Given the description of an element on the screen output the (x, y) to click on. 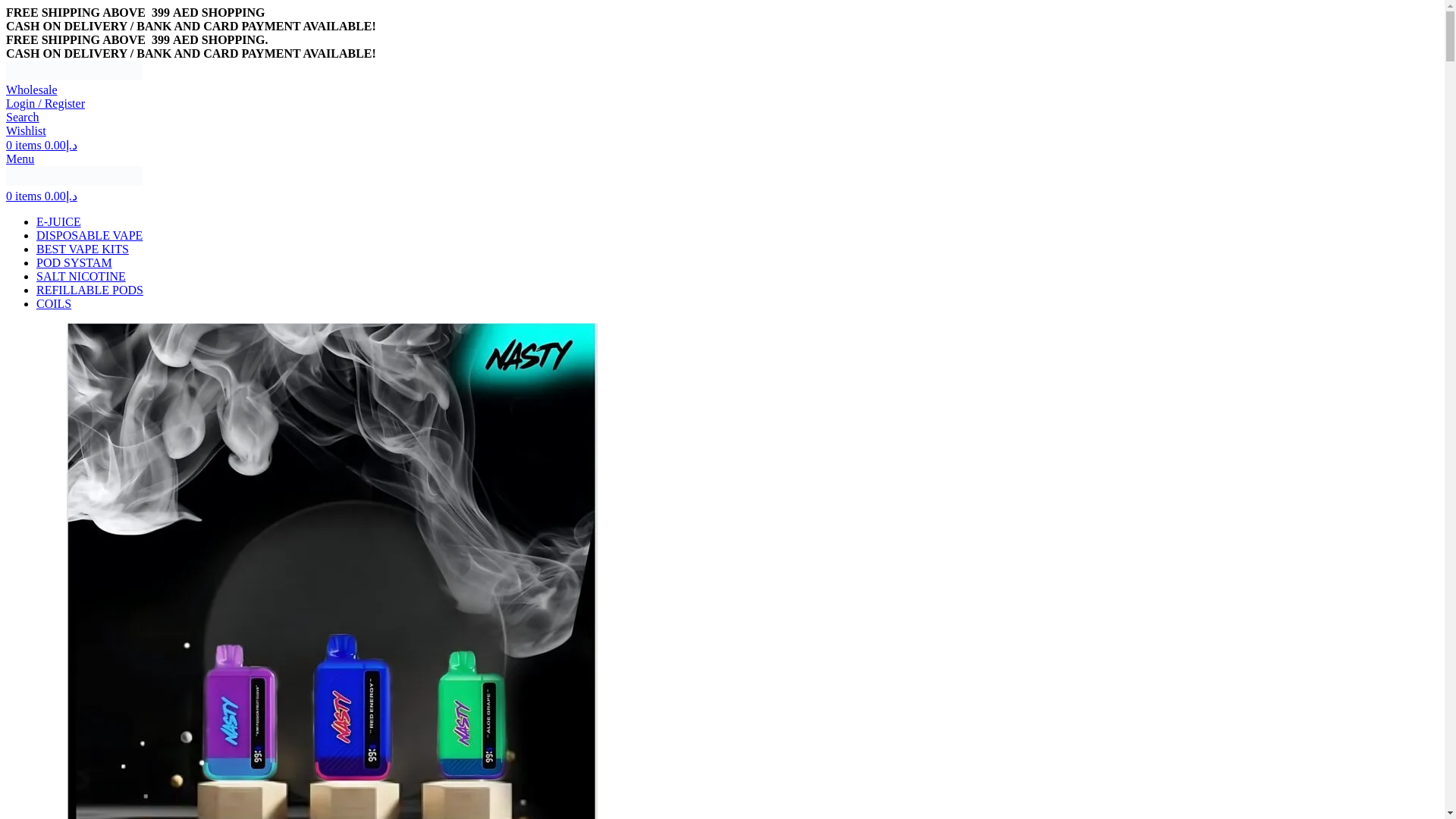
My account (44, 103)
BEST VAPE KITS (82, 248)
Search (22, 116)
DISPOSABLE VAPE (89, 235)
COILS (53, 303)
REFILLABLE PODS (89, 289)
POD SYSTAM (74, 262)
Wishlist (25, 130)
E-JUICE (58, 221)
Wholesale (31, 89)
SALT NICOTINE (80, 276)
Shopping cart (41, 144)
Shopping cart (41, 195)
Menu (19, 158)
